Given the description of an element on the screen output the (x, y) to click on. 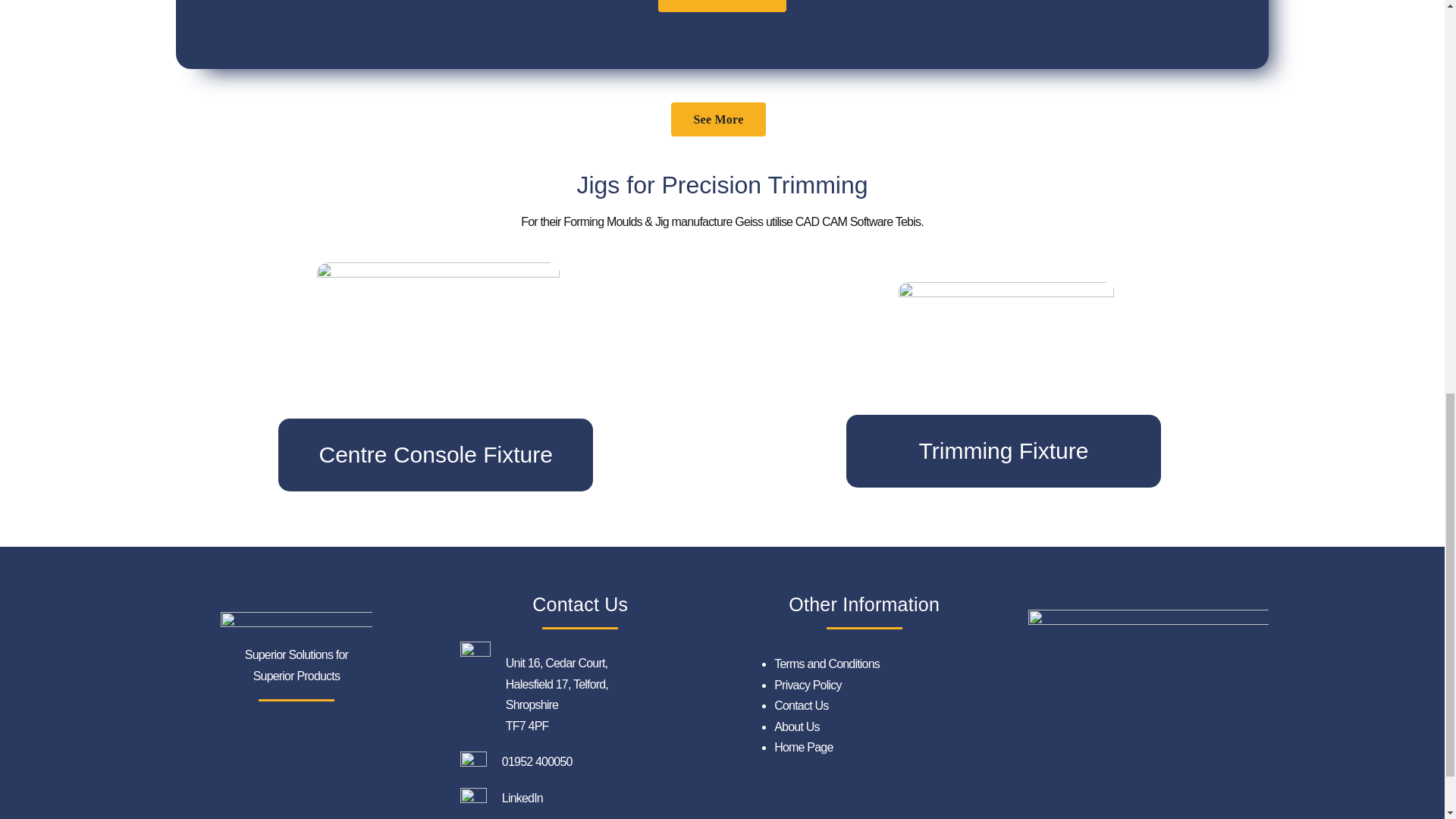
Contact Us (722, 6)
About Us (796, 726)
Jig1 (438, 364)
See More (718, 119)
Contact Us (801, 705)
Privacy Policy (807, 684)
vacuum-forming-and-servicing-1 (1147, 693)
LinkedIn (522, 797)
Home Page (803, 747)
Jig2 (1005, 362)
Terms and Conditions (826, 663)
01952 400050 (537, 761)
